Given the description of an element on the screen output the (x, y) to click on. 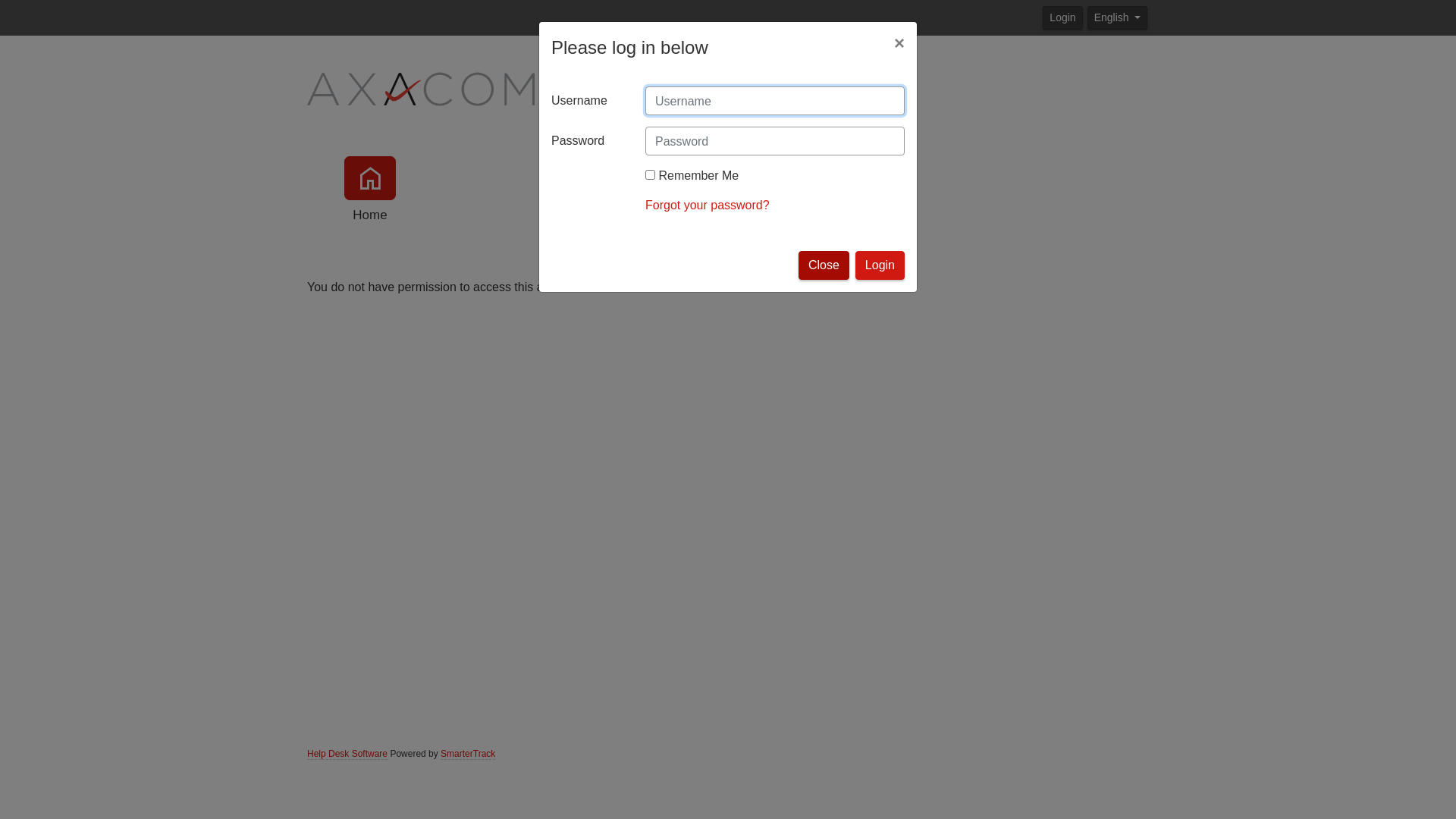
Home Element type: text (369, 190)
English Element type: text (1117, 17)
SmarterTrack Element type: text (467, 753)
Help Desk Software Element type: text (347, 753)
Close Element type: text (823, 265)
Forgot your password? Element type: text (707, 204)
Login Element type: text (1062, 17)
AXACOM Support Element type: hover (420, 86)
Login Element type: text (879, 265)
